Given the description of an element on the screen output the (x, y) to click on. 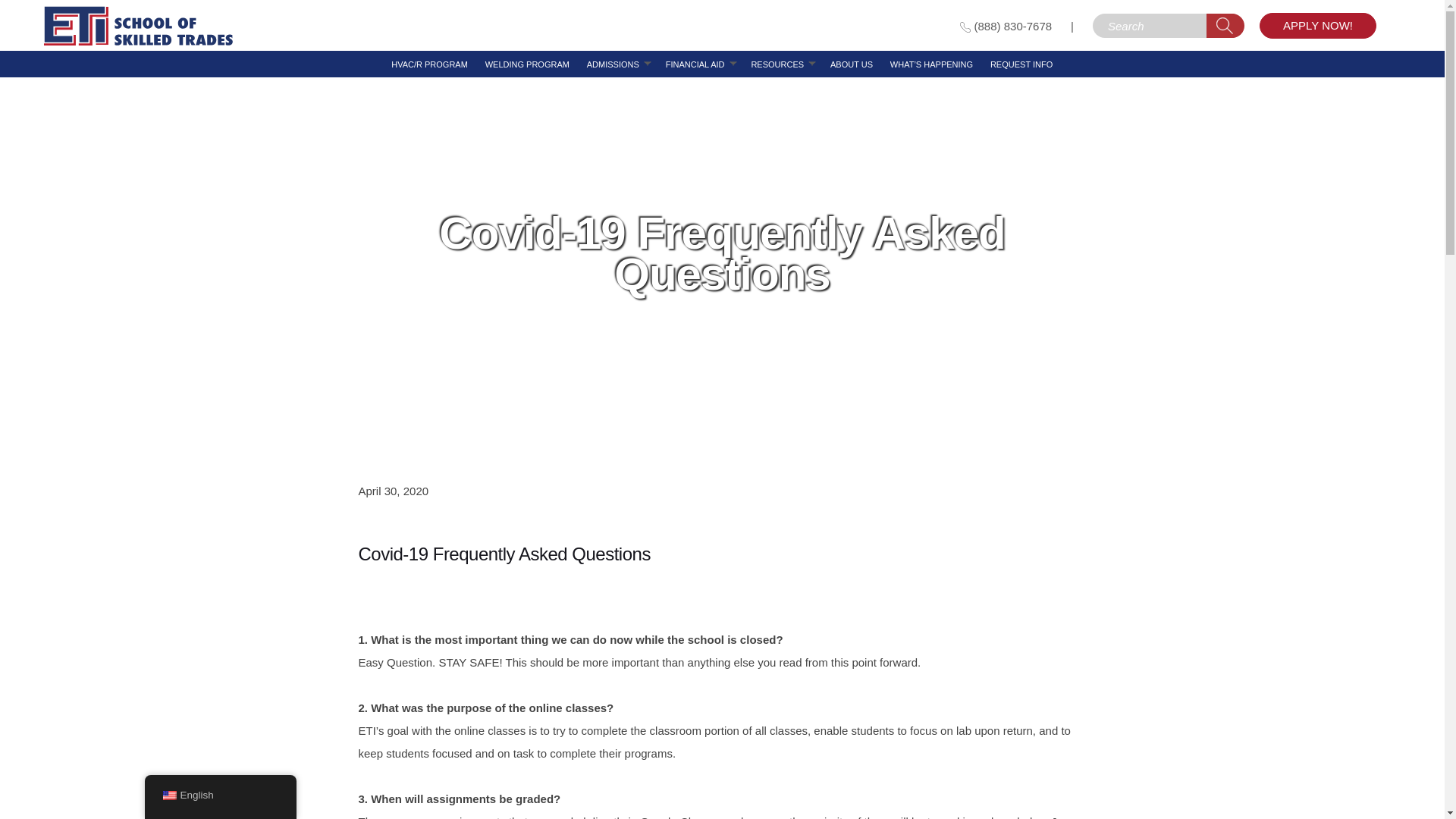
WELDING PROGRAM (526, 64)
RESOURCES (777, 64)
Search (1225, 25)
REQUEST INFO (1021, 64)
ADMISSIONS (612, 64)
Search (1225, 25)
FINANCIAL AID (695, 64)
ABOUT US (850, 64)
English (168, 795)
APPLY NOW! (1317, 25)
